Given the description of an element on the screen output the (x, y) to click on. 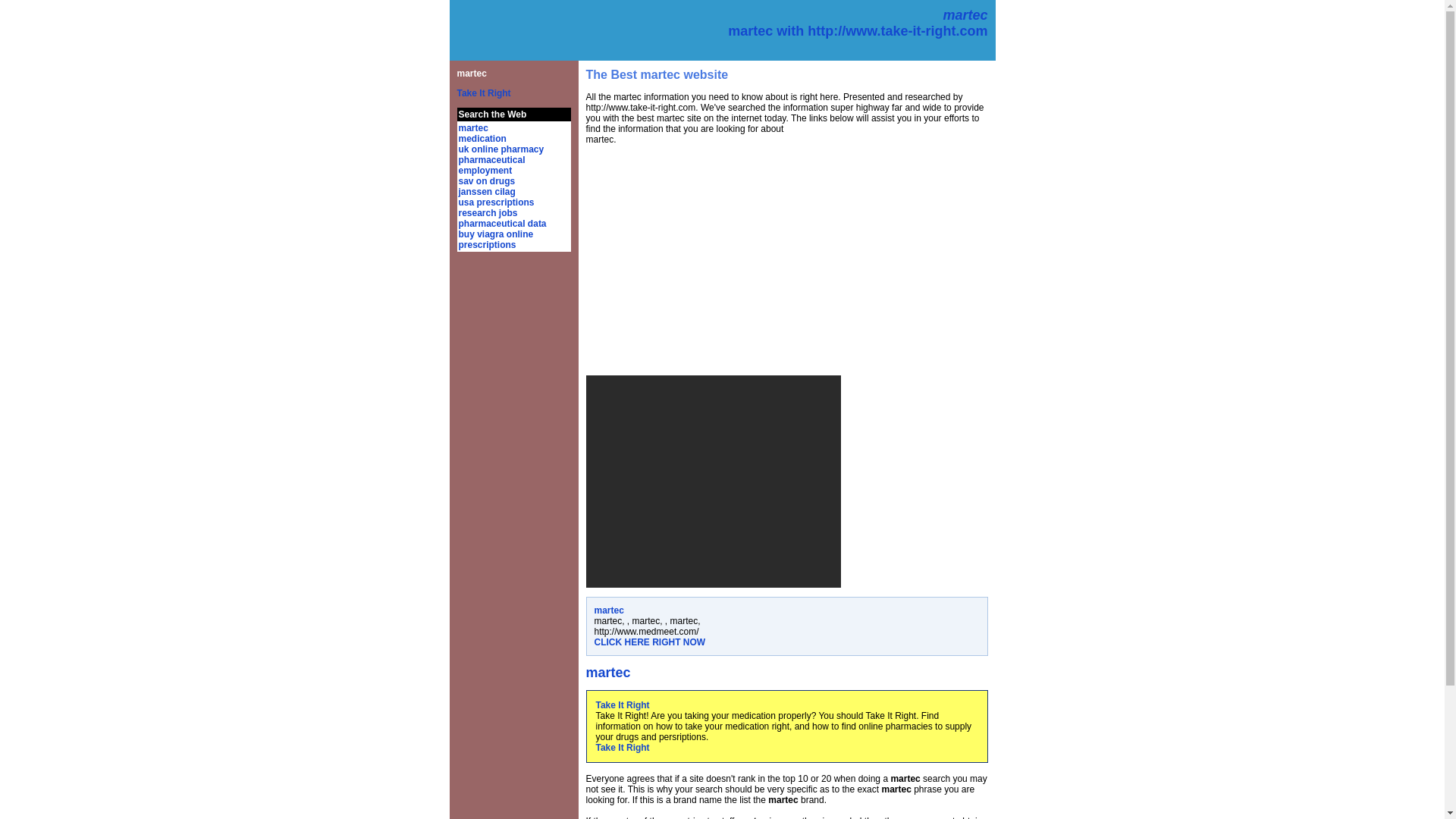
usa prescriptions (496, 202)
martec (472, 127)
pharmaceutical employment (491, 165)
sav on drugs (486, 181)
uk online pharmacy (500, 149)
Advertisement (712, 481)
research jobs (487, 213)
CLICK HERE RIGHT NOW (650, 642)
janssen cilag (486, 191)
Take It Right (484, 92)
